Given the description of an element on the screen output the (x, y) to click on. 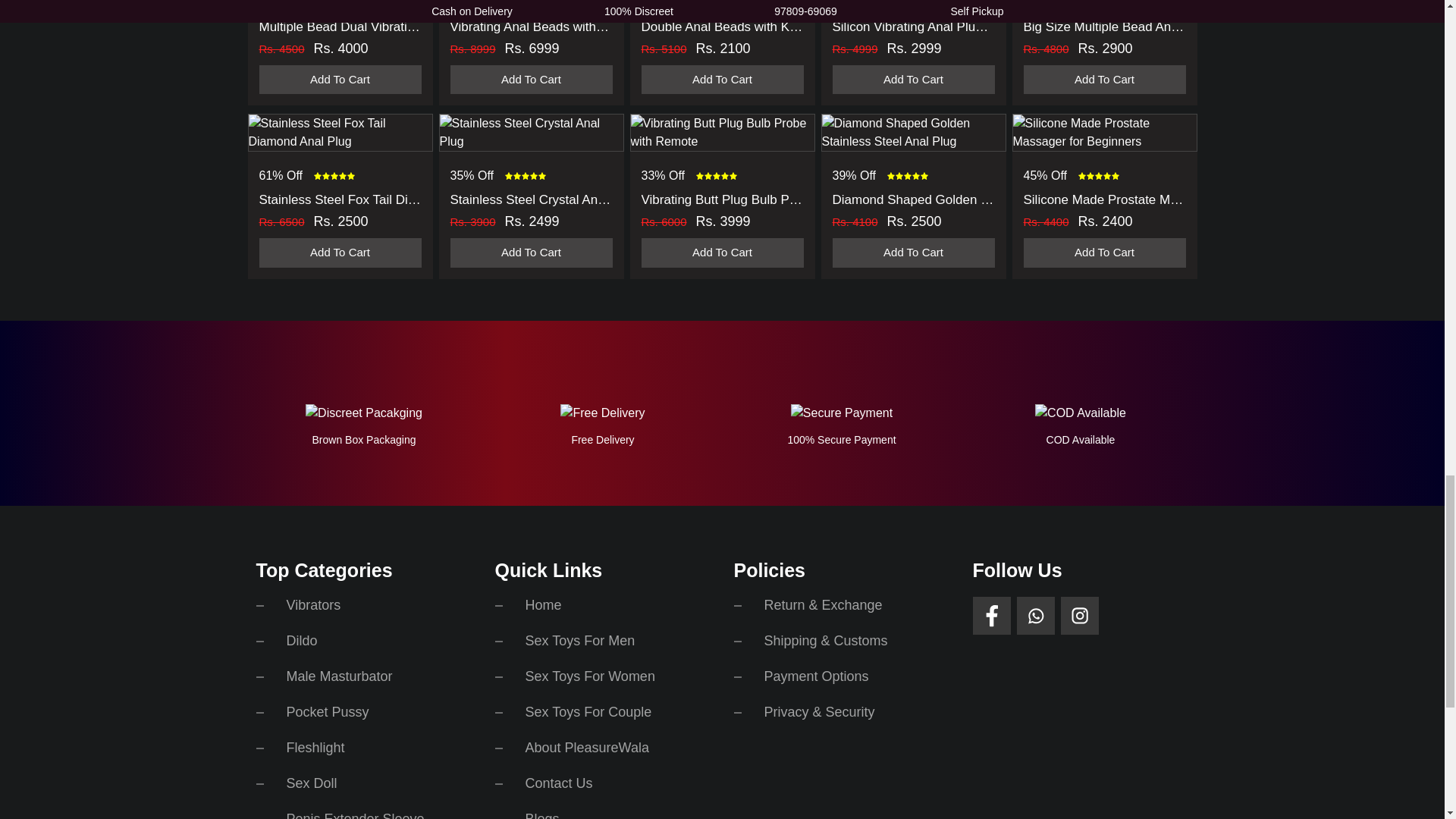
Diamond Shaped Golden Stainless Steel Anal Plug (914, 132)
Vibrating Butt Plug Bulb Probe with Remote (721, 132)
Stainless Steel Crystal Anal Plug (531, 132)
Stainless Steel Fox Tail Diamond Anal Plug (340, 132)
Silicone Made Prostate Massager for Beginners (1104, 132)
